Given the description of an element on the screen output the (x, y) to click on. 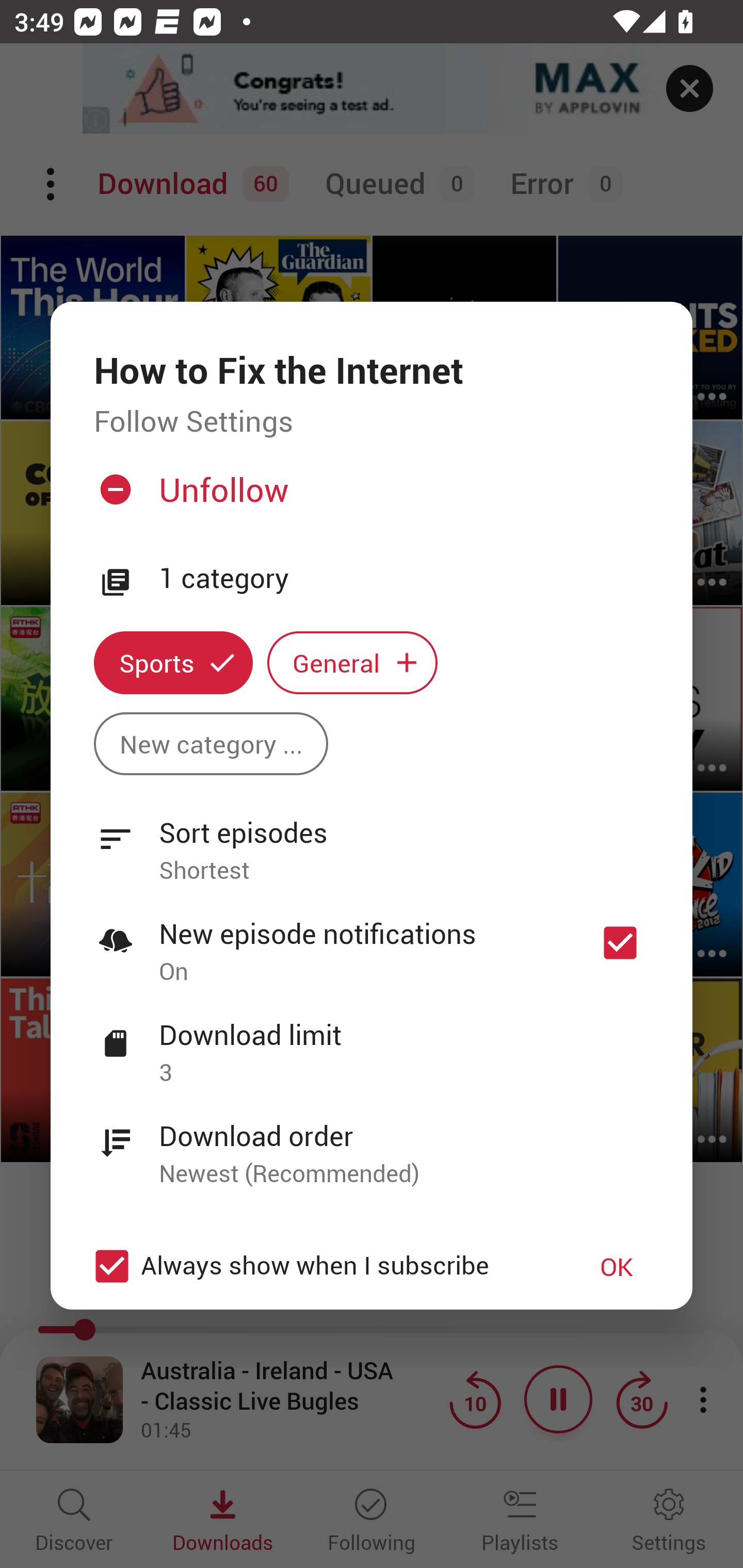
Unfollow (369, 496)
1 category (404, 578)
Sports (172, 662)
General (352, 662)
New category ... (210, 742)
Sort episodes Shortest (371, 840)
New episode notifications (620, 943)
Download limit 3 (371, 1042)
Download order Newest (Recommended) (371, 1143)
OK (616, 1266)
Always show when I subscribe (320, 1266)
